Given the description of an element on the screen output the (x, y) to click on. 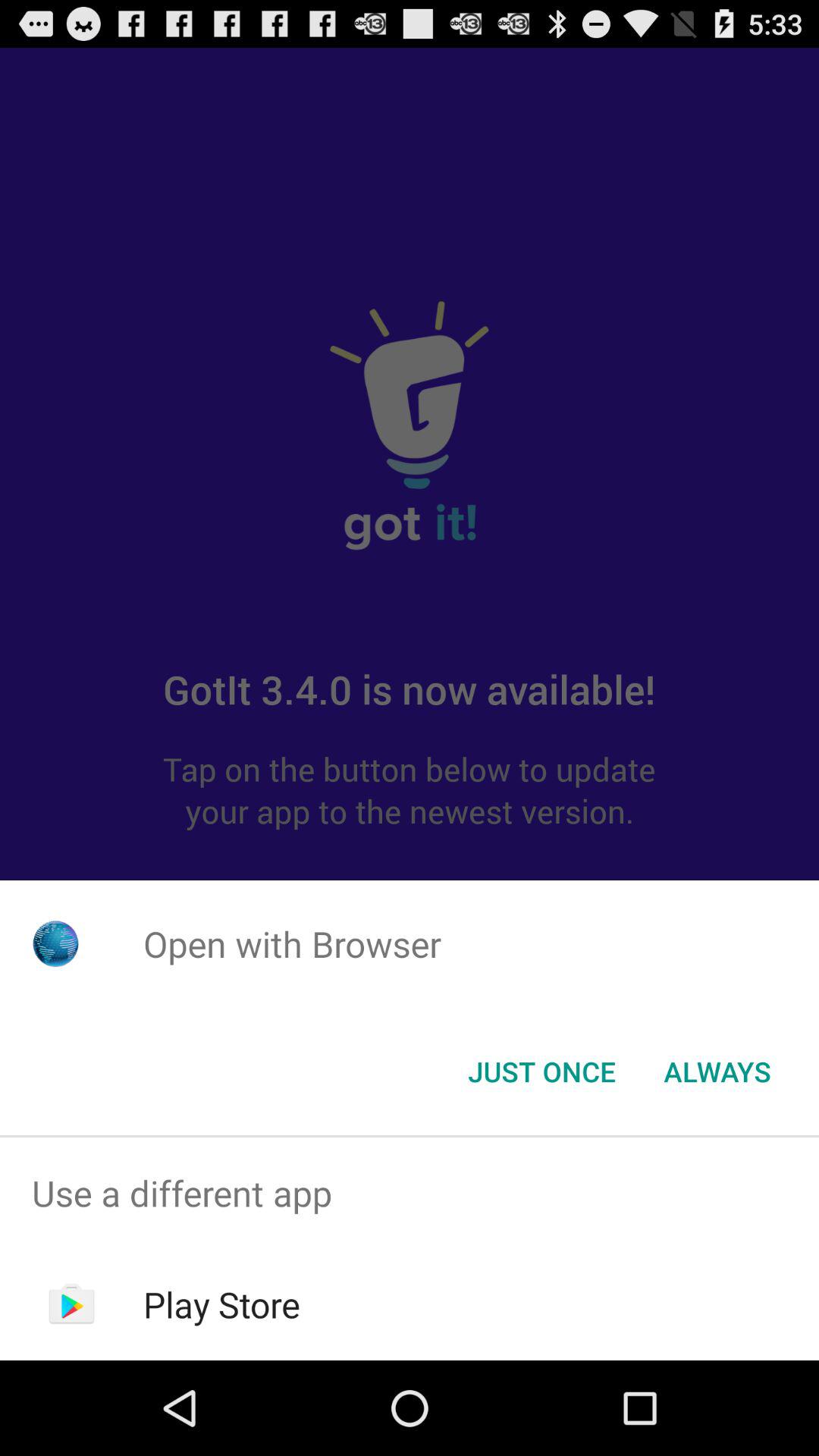
turn on the icon above the play store icon (409, 1192)
